Given the description of an element on the screen output the (x, y) to click on. 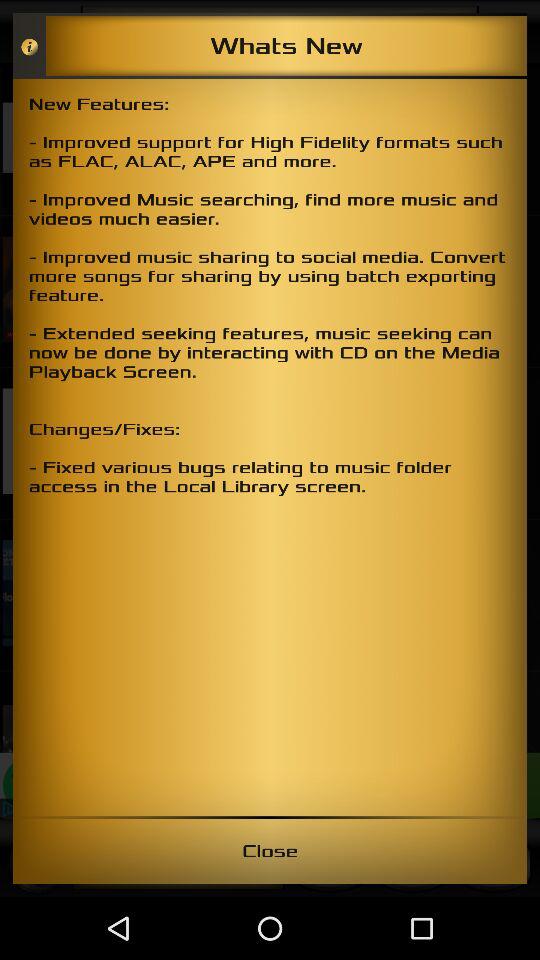
tap close item (269, 850)
